Given the description of an element on the screen output the (x, y) to click on. 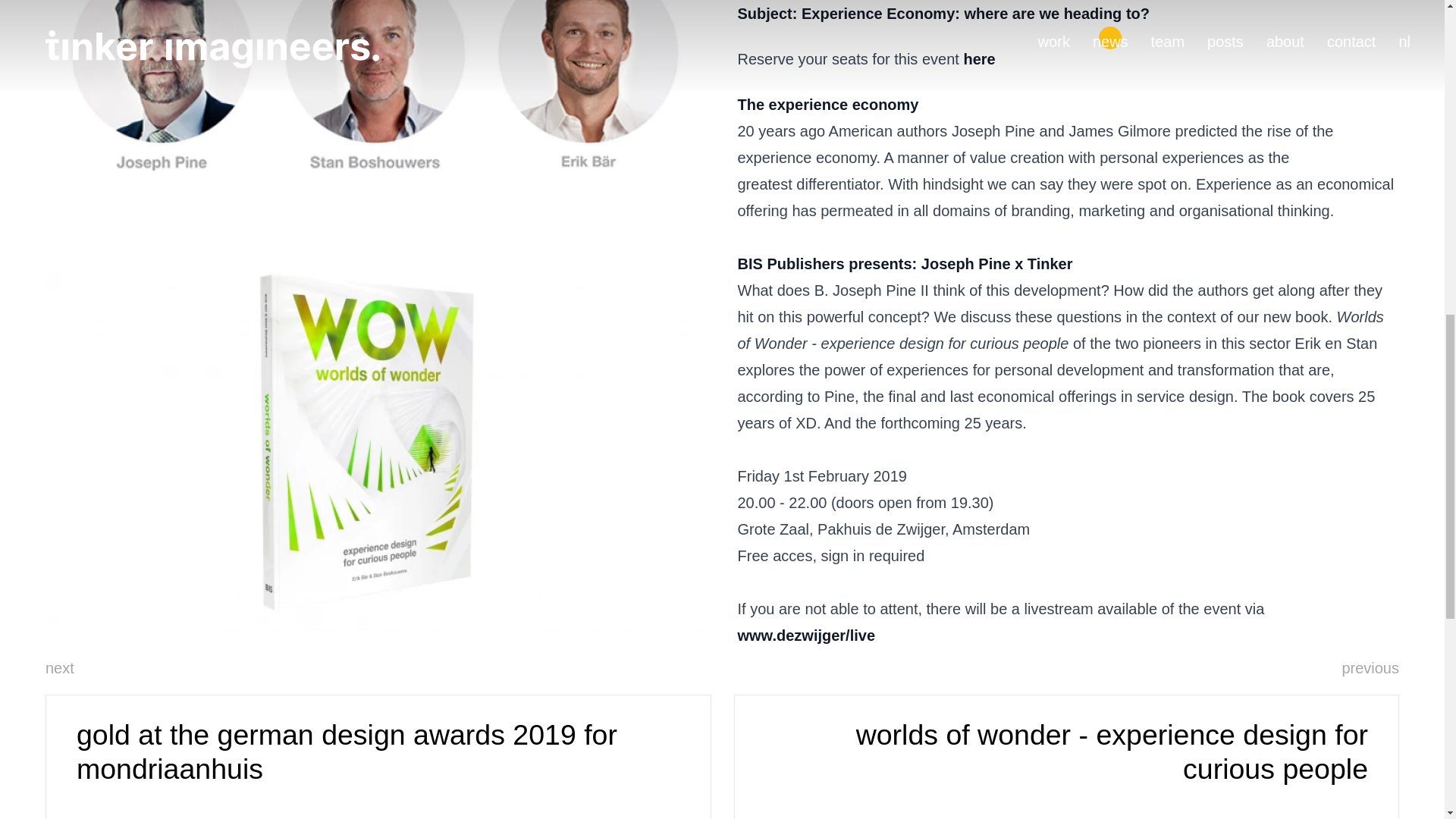
gold at the german design awards 2019 for mondriaanhuis (378, 756)
here (978, 58)
worlds of wonder - experience design for curious people (1066, 756)
